Given the description of an element on the screen output the (x, y) to click on. 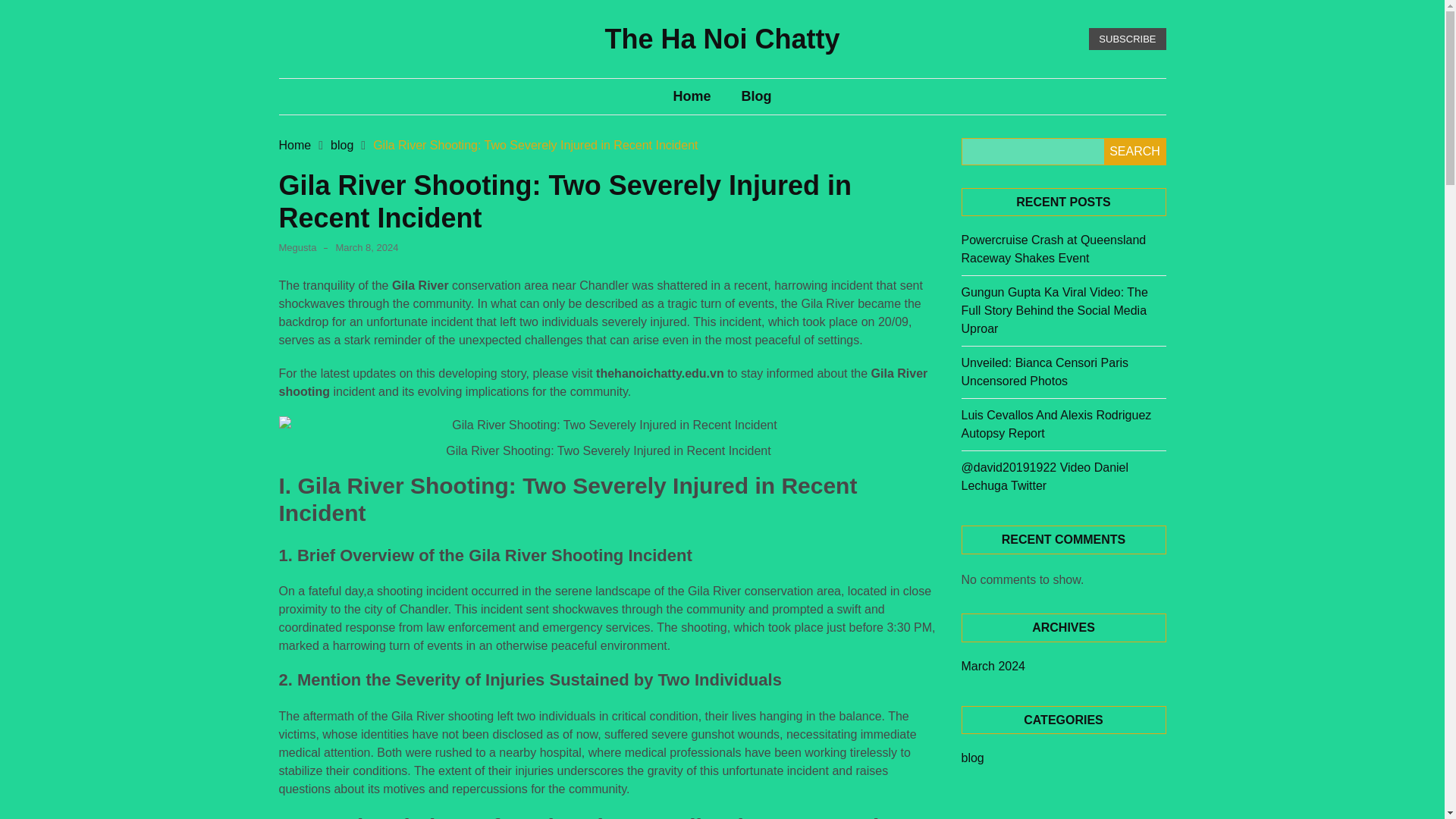
Home (295, 144)
Unveiled: Bianca Censori Paris Uncensored Photos (1044, 371)
The Ha Noi Chatty (722, 38)
SUBSCRIBE (1127, 38)
Megusta (298, 247)
Home (691, 96)
Blog (756, 96)
SEARCH (1134, 151)
blog (972, 757)
Gila River Shooting: Two Severely Injured in Recent Incident (534, 144)
